Given the description of an element on the screen output the (x, y) to click on. 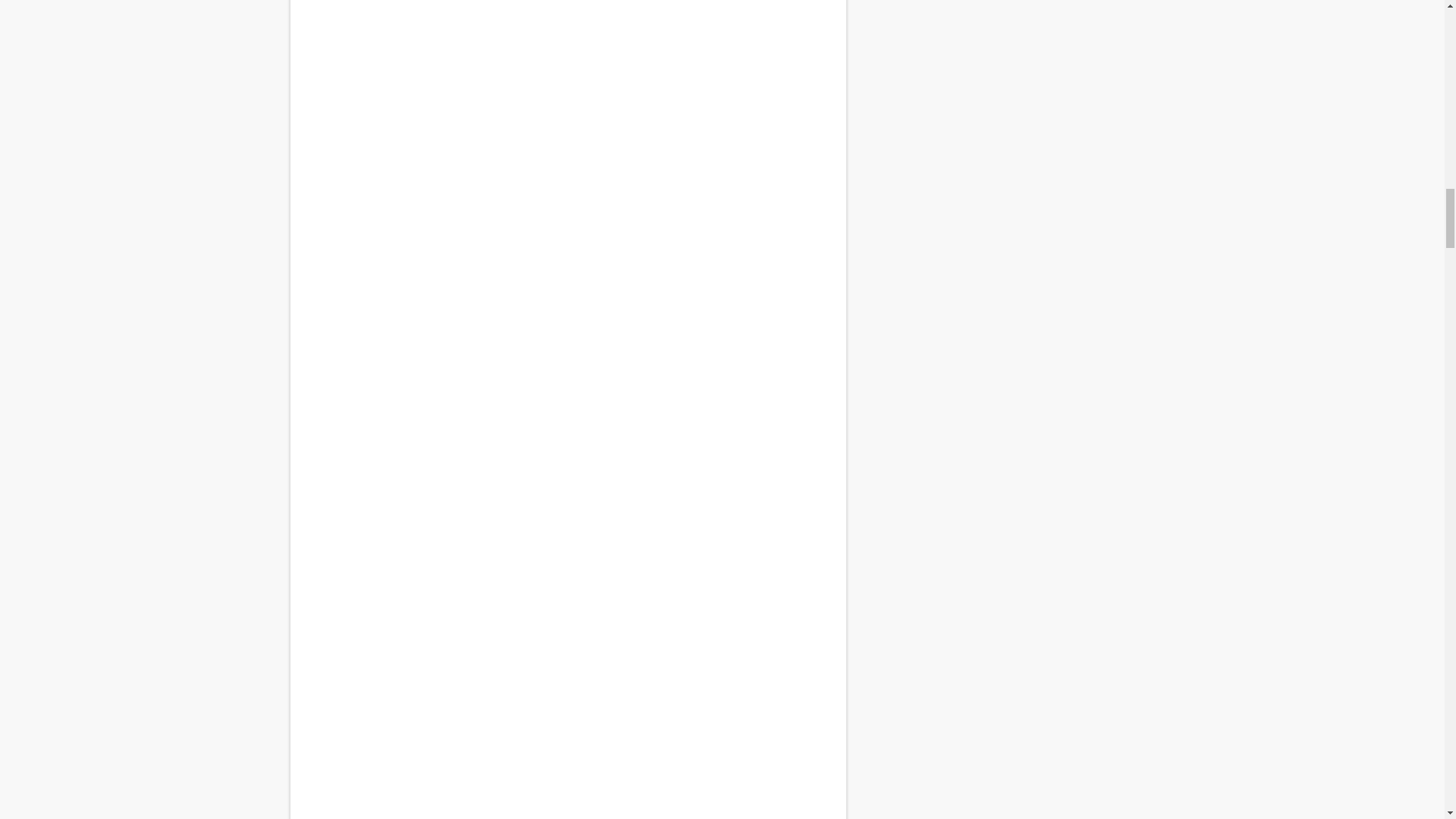
Learn Prepositions by Photos (567, 305)
